Given the description of an element on the screen output the (x, y) to click on. 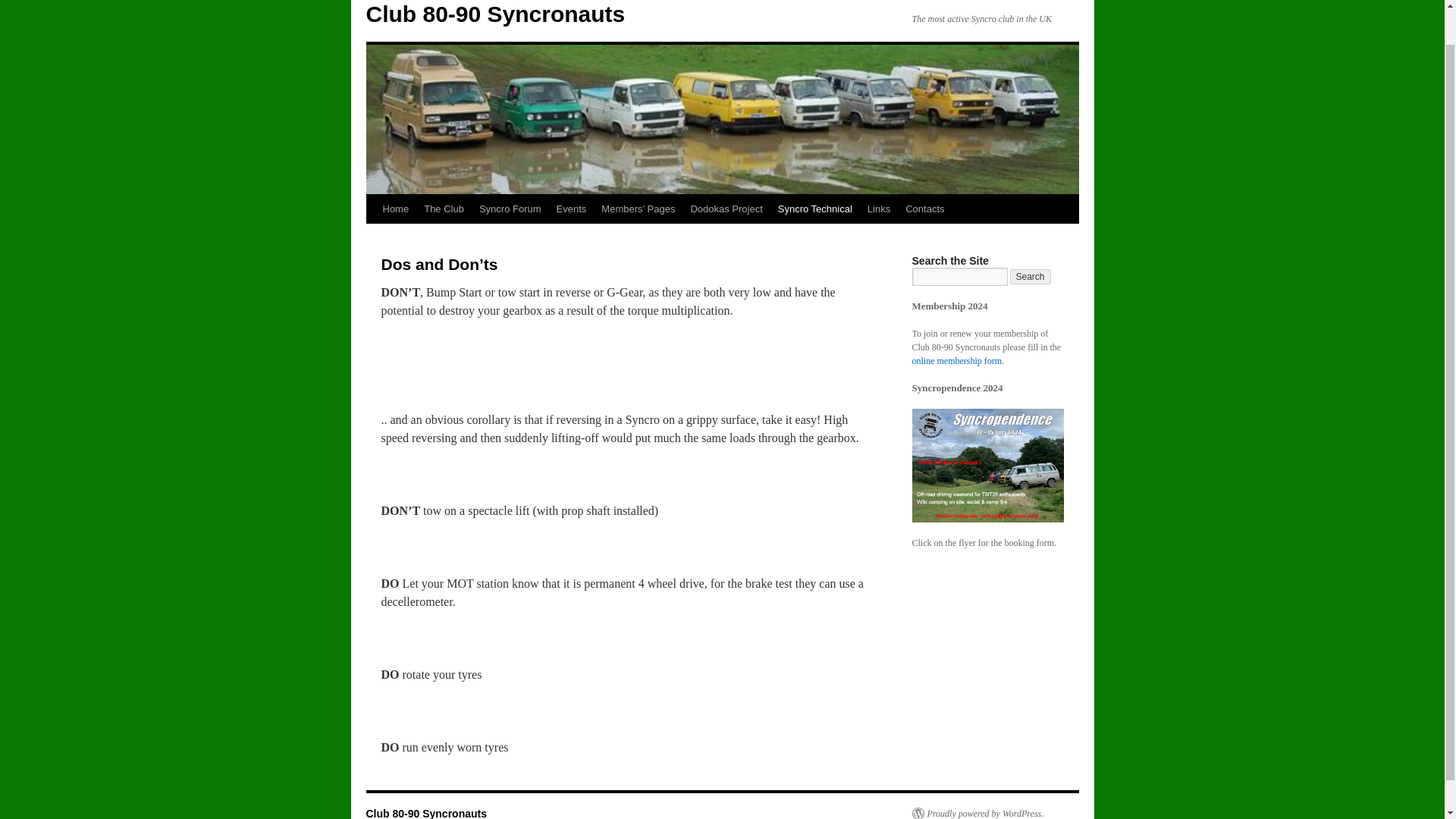
Club 80-90 Syncronauts (494, 13)
Home (395, 208)
Syncro Forum (509, 208)
Events (571, 208)
The Club (443, 208)
Search (1030, 276)
